Given the description of an element on the screen output the (x, y) to click on. 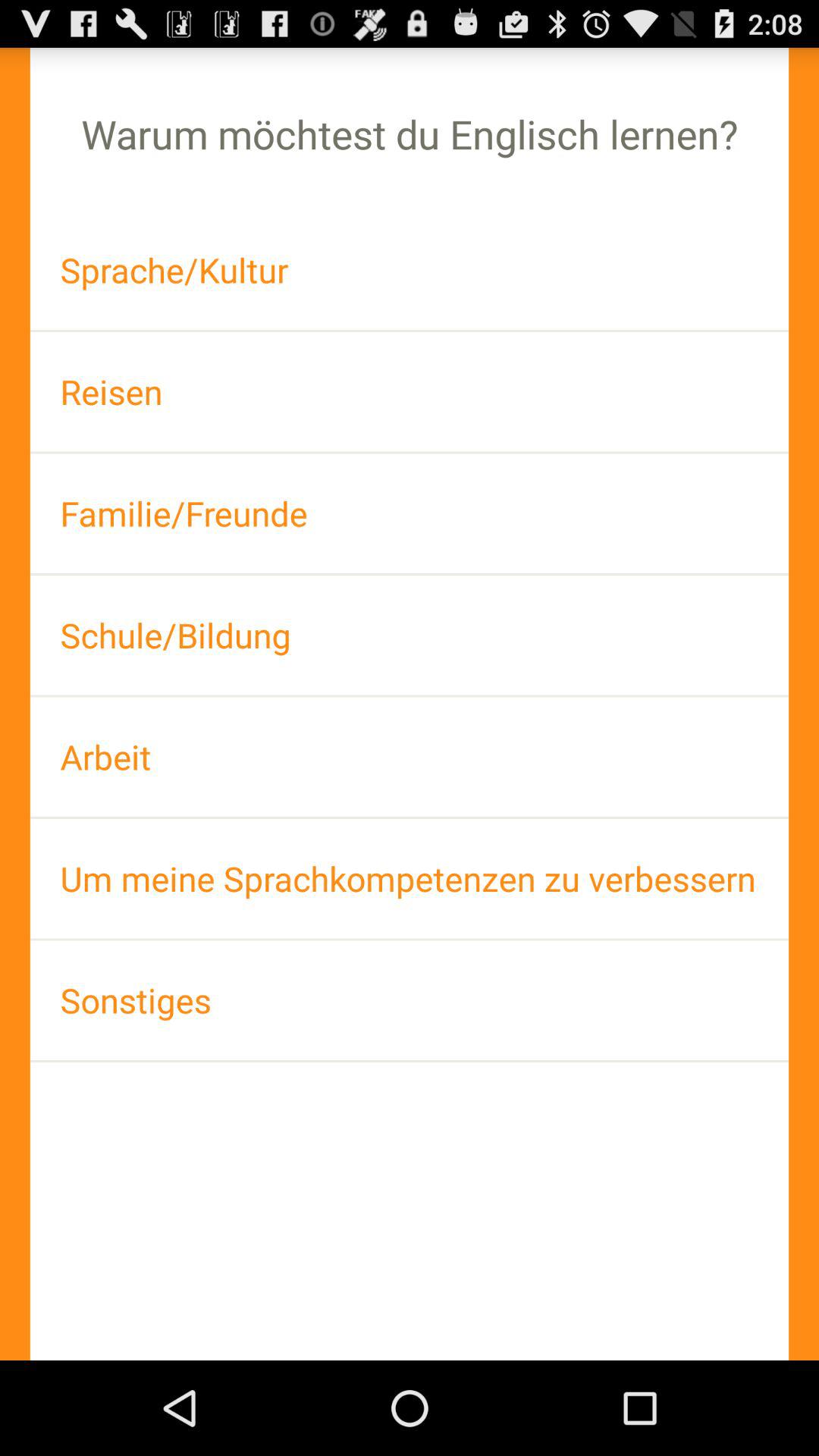
launch arbeit item (409, 756)
